Given the description of an element on the screen output the (x, y) to click on. 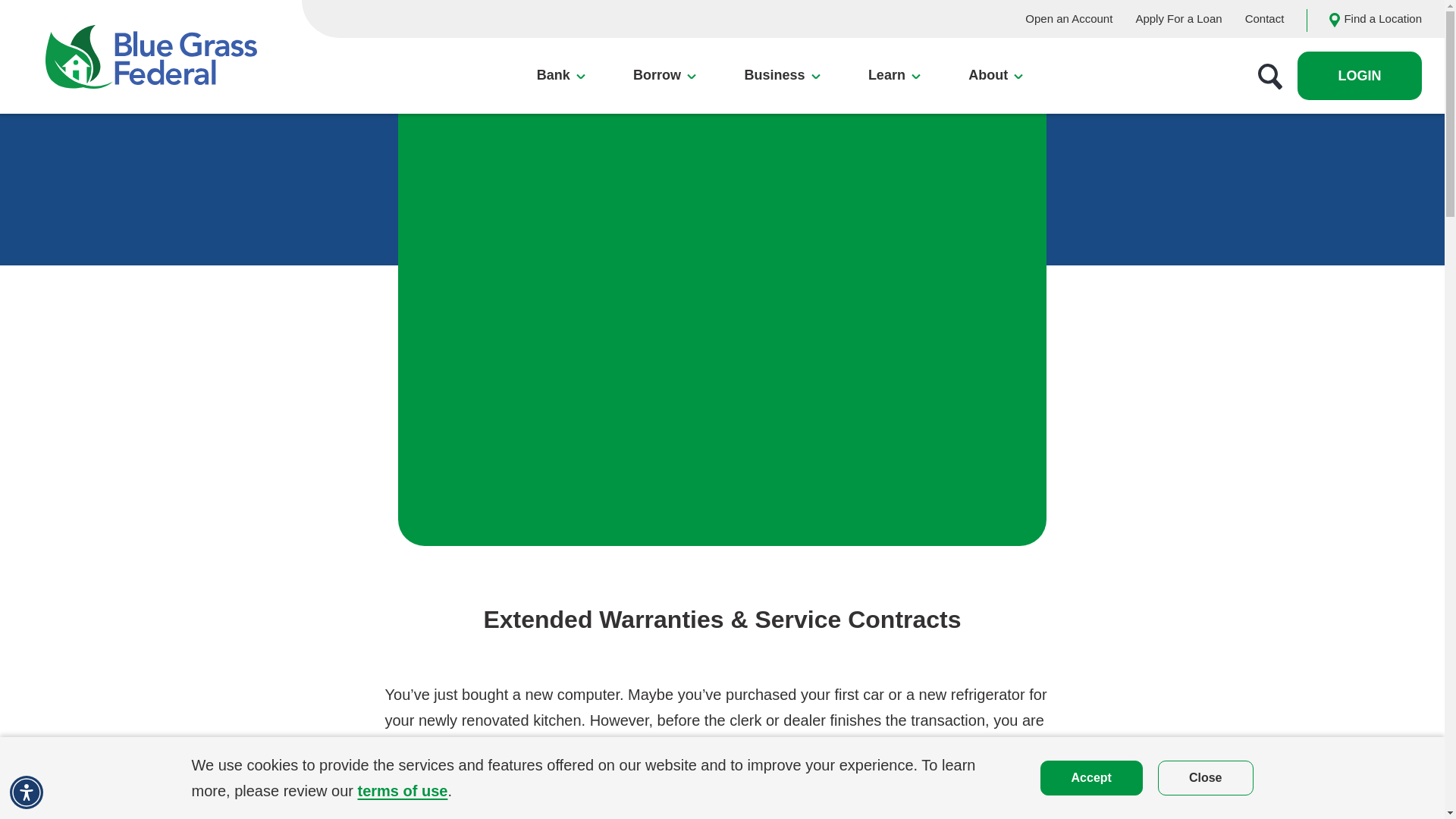
Go (1319, 235)
Online Banking (595, 240)
Mobile Banking (595, 213)
Debit Card (333, 175)
Accept (1155, 300)
Search (1199, 300)
Checking Accounts (1091, 777)
Savings Accounts (1269, 75)
Business (414, 150)
Mortgage Lenders (414, 214)
Close (781, 75)
Visit Us (441, 258)
Types of Mortgage Loans (1205, 777)
